Given the description of an element on the screen output the (x, y) to click on. 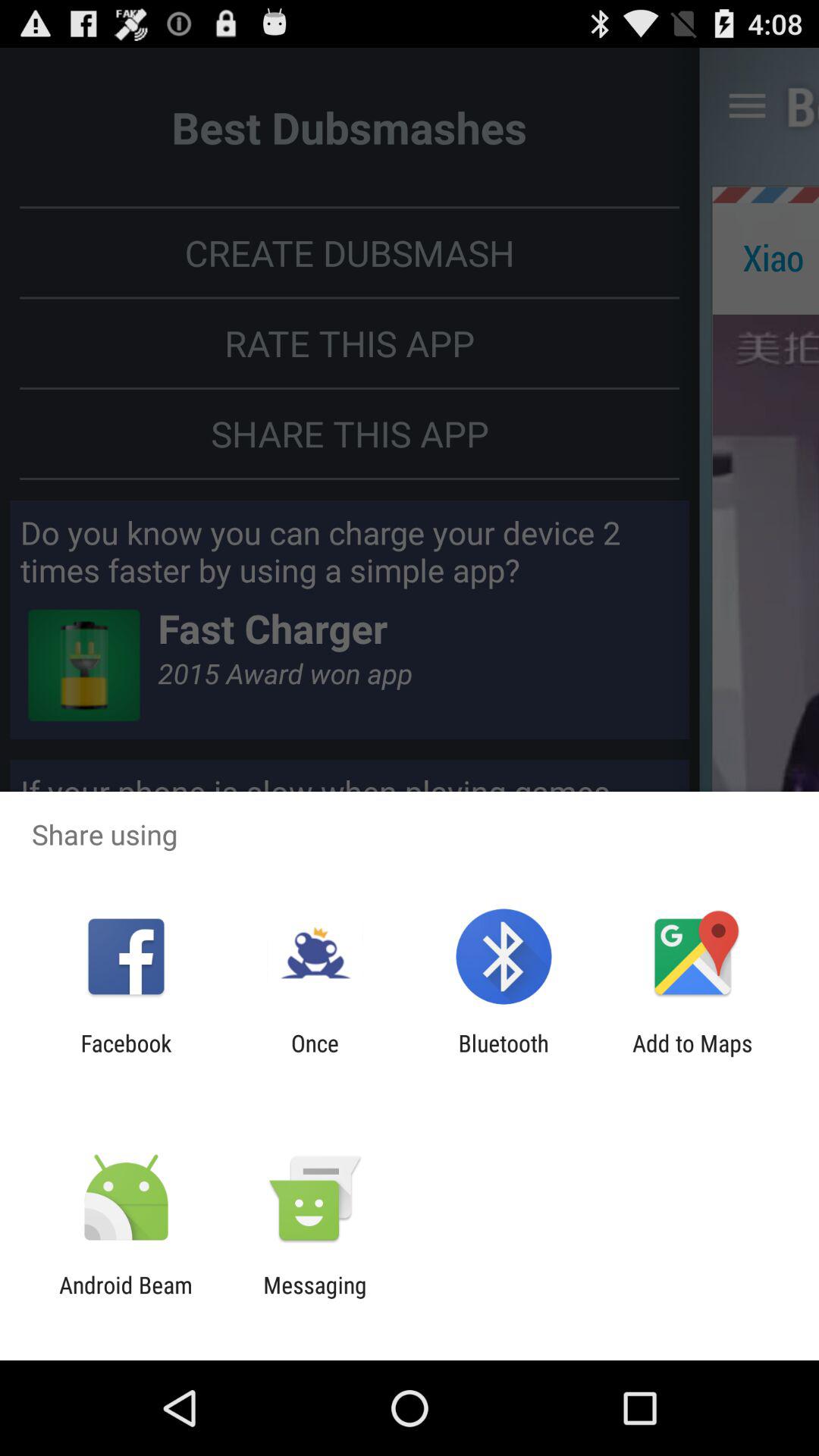
select item next to the add to maps (503, 1056)
